Given the description of an element on the screen output the (x, y) to click on. 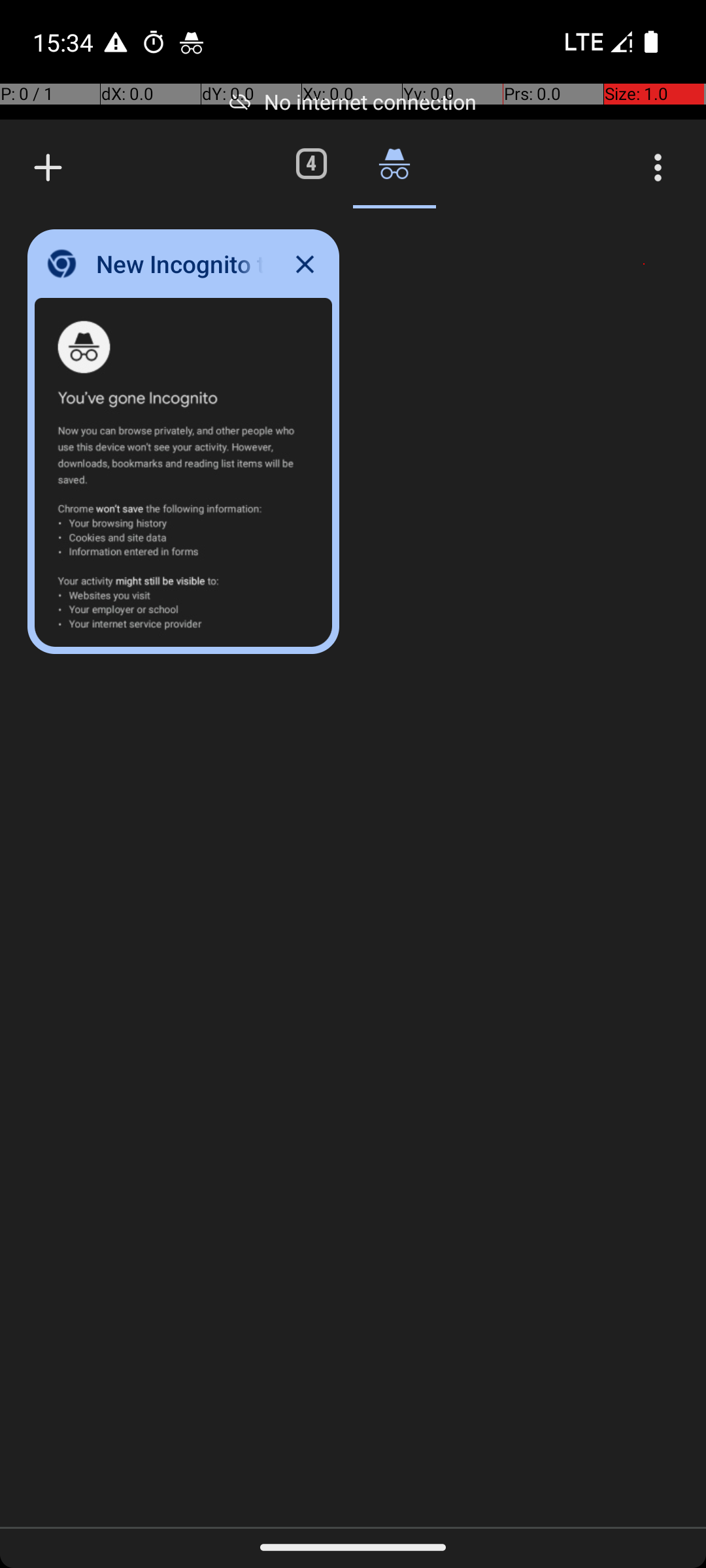
New Incognito tab Element type: android.widget.ImageButton (48, 167)
Close New Incognito tab tab Element type: android.widget.ImageView (304, 263)
Standard tabs Element type: android.widget.ImageView (311, 163)
Incognito tabs Element type: android.widget.ImageView (394, 163)
